Given the description of an element on the screen output the (x, y) to click on. 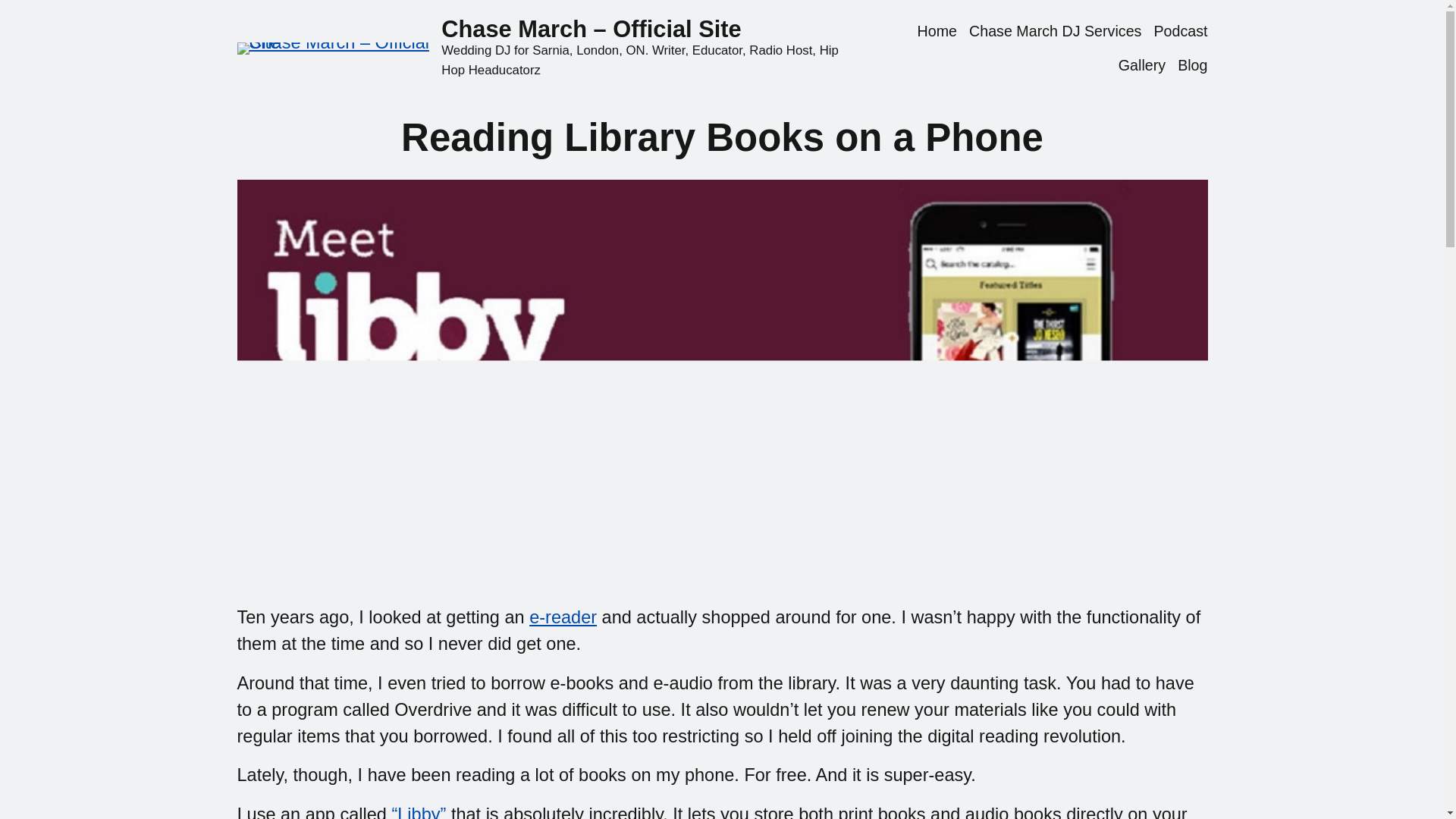
Chase March DJ Services (1055, 31)
e-reader (562, 617)
Blog (1192, 65)
Podcast (1180, 31)
Gallery (1142, 65)
Home (936, 31)
